Given the description of an element on the screen output the (x, y) to click on. 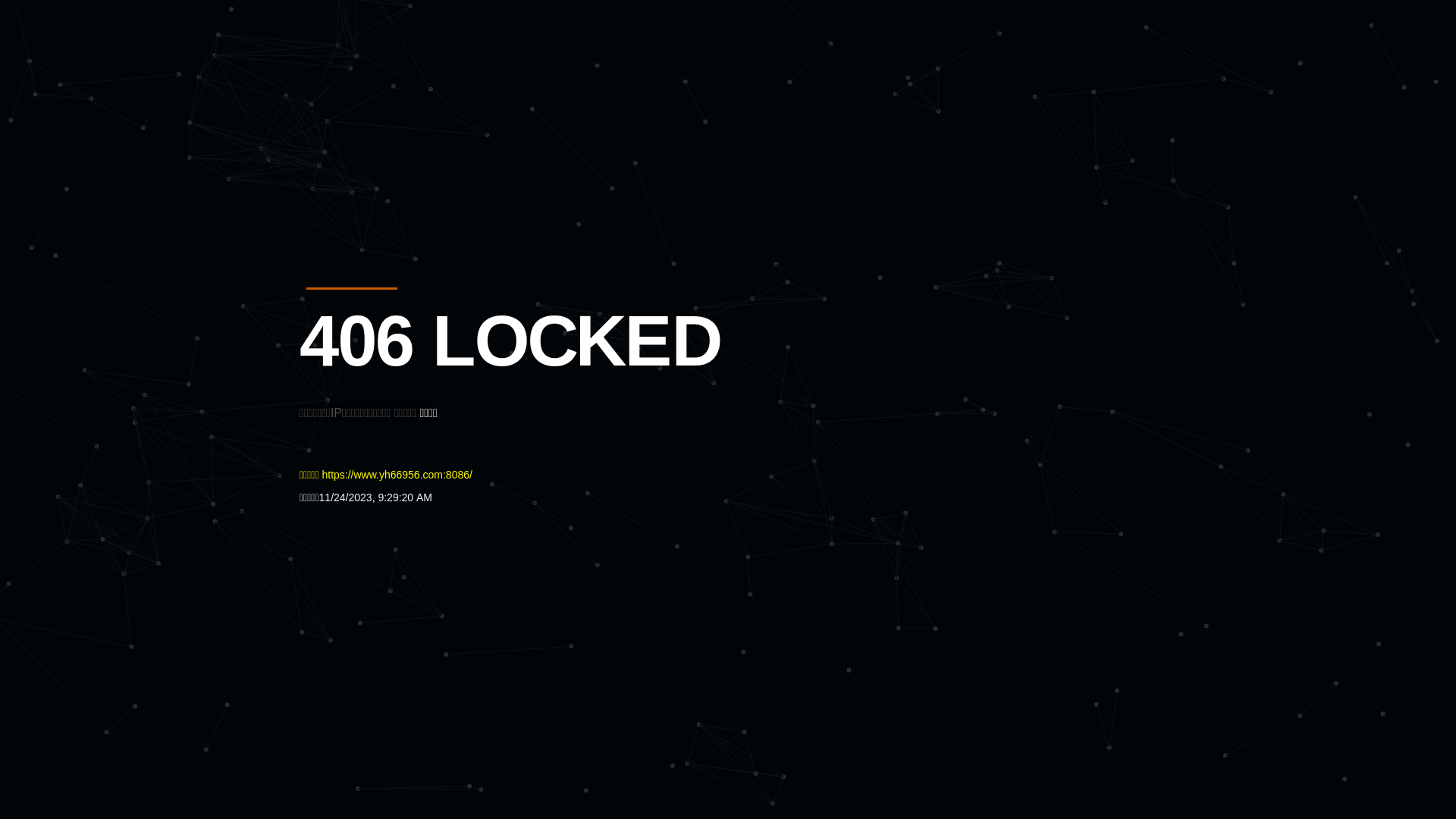
Quatro Element type: text (410, 86)
